Given the description of an element on the screen output the (x, y) to click on. 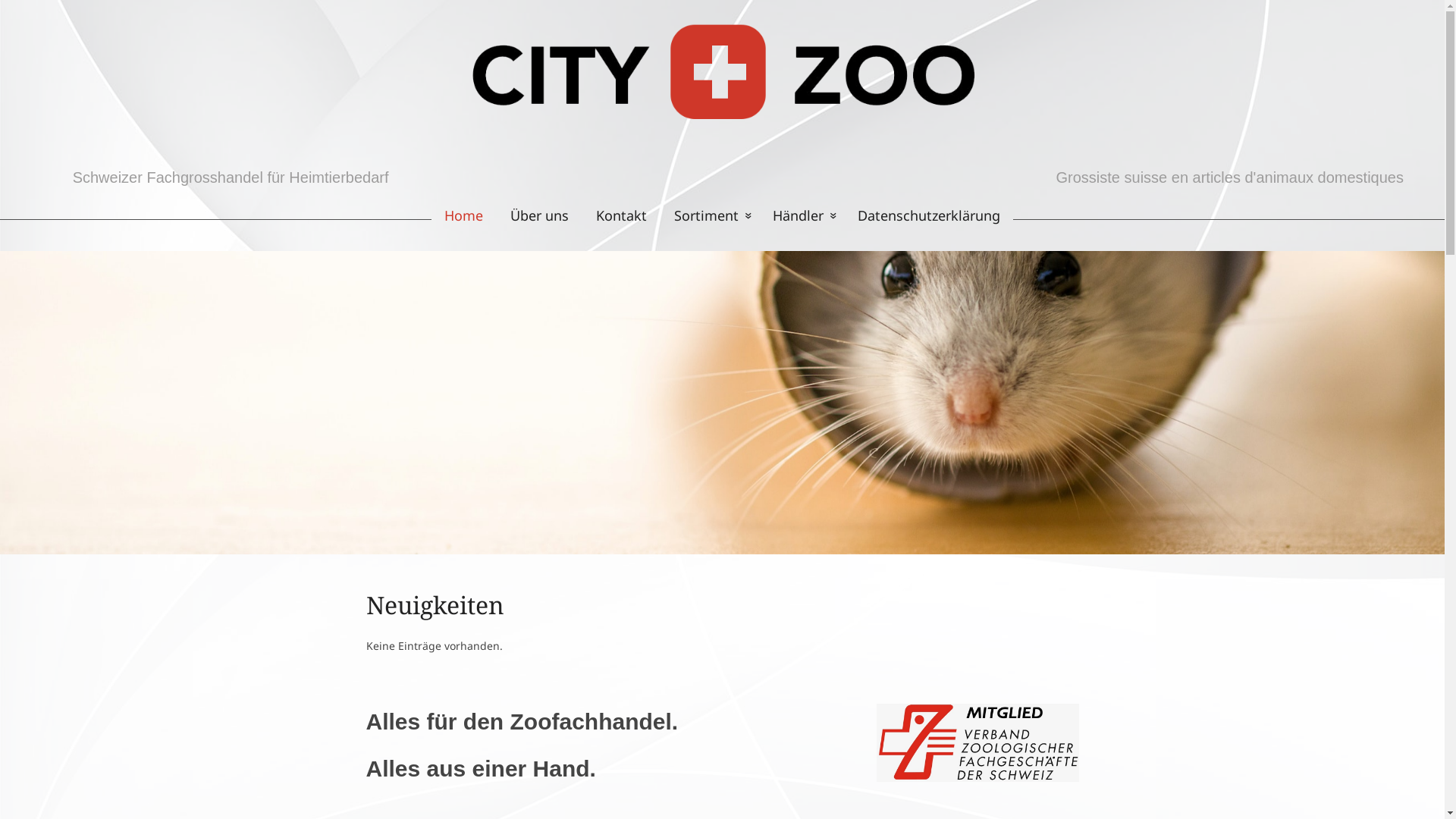
Kontakt Element type: text (621, 215)
Sortiment Element type: text (709, 215)
Home Element type: text (456, 215)
